Given the description of an element on the screen output the (x, y) to click on. 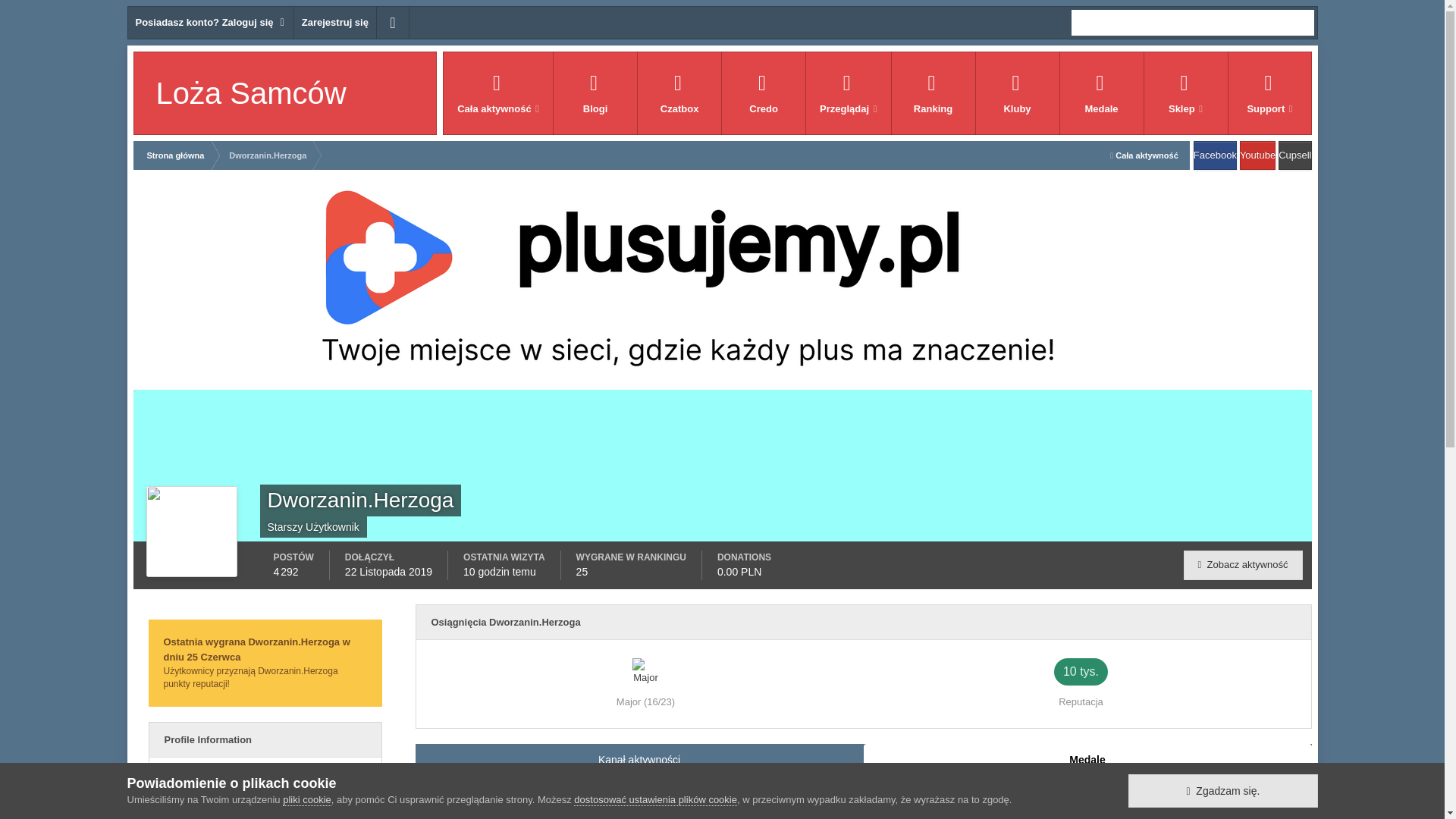
Ranking (933, 93)
Credo (763, 93)
07.08.2024 04:16  (499, 571)
Czatbox (678, 93)
Medale (1100, 93)
Kluby (1016, 93)
Sklep (1184, 93)
Blogi (595, 93)
22.11.2019 22:58  (388, 571)
